Given the description of an element on the screen output the (x, y) to click on. 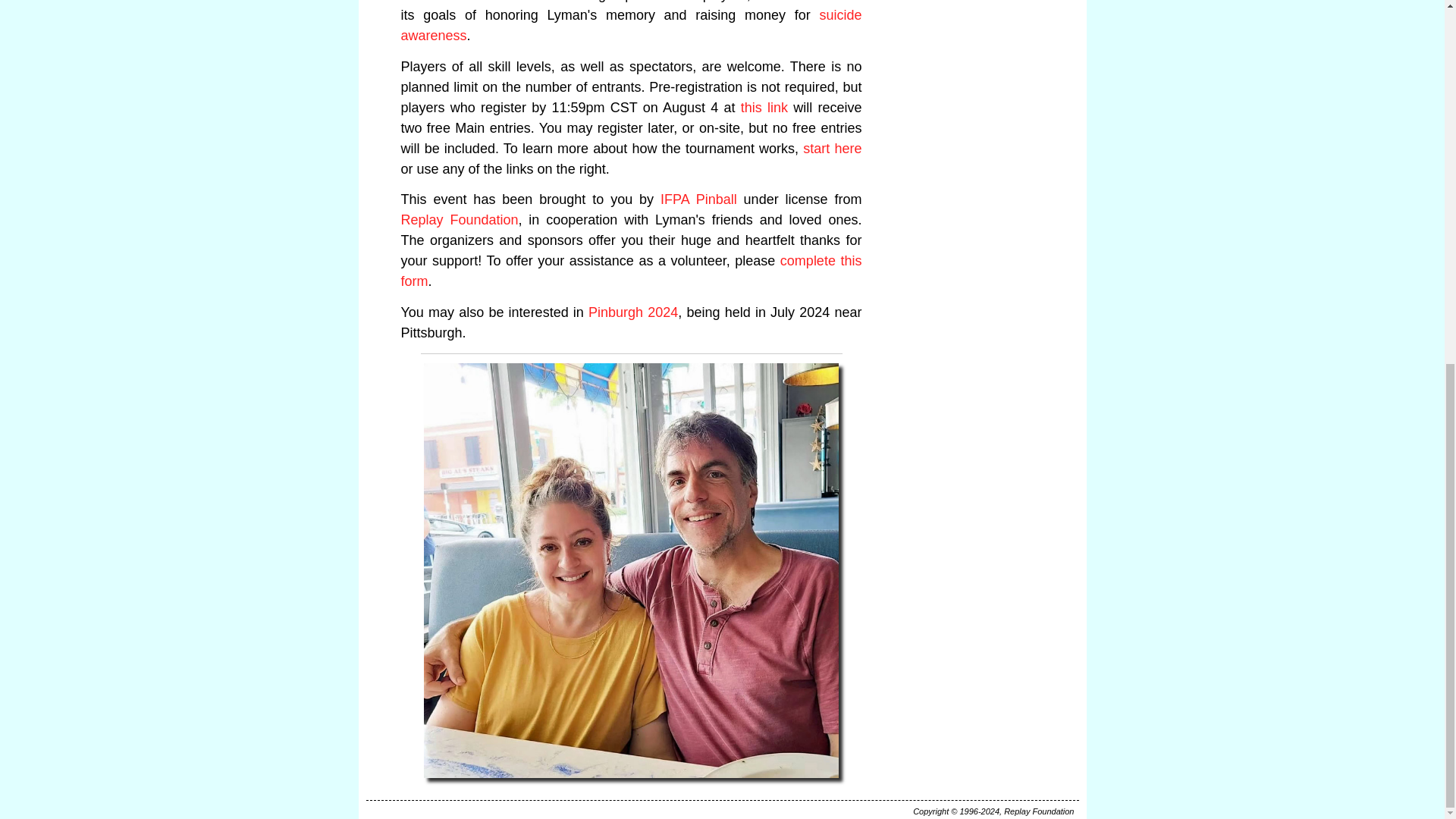
suicide awareness (630, 25)
complete this form (630, 271)
Pinburgh 2024 (633, 312)
start here (832, 148)
IFPA Pinball (698, 199)
Replay Foundation (459, 219)
this link (764, 107)
